Given the description of an element on the screen output the (x, y) to click on. 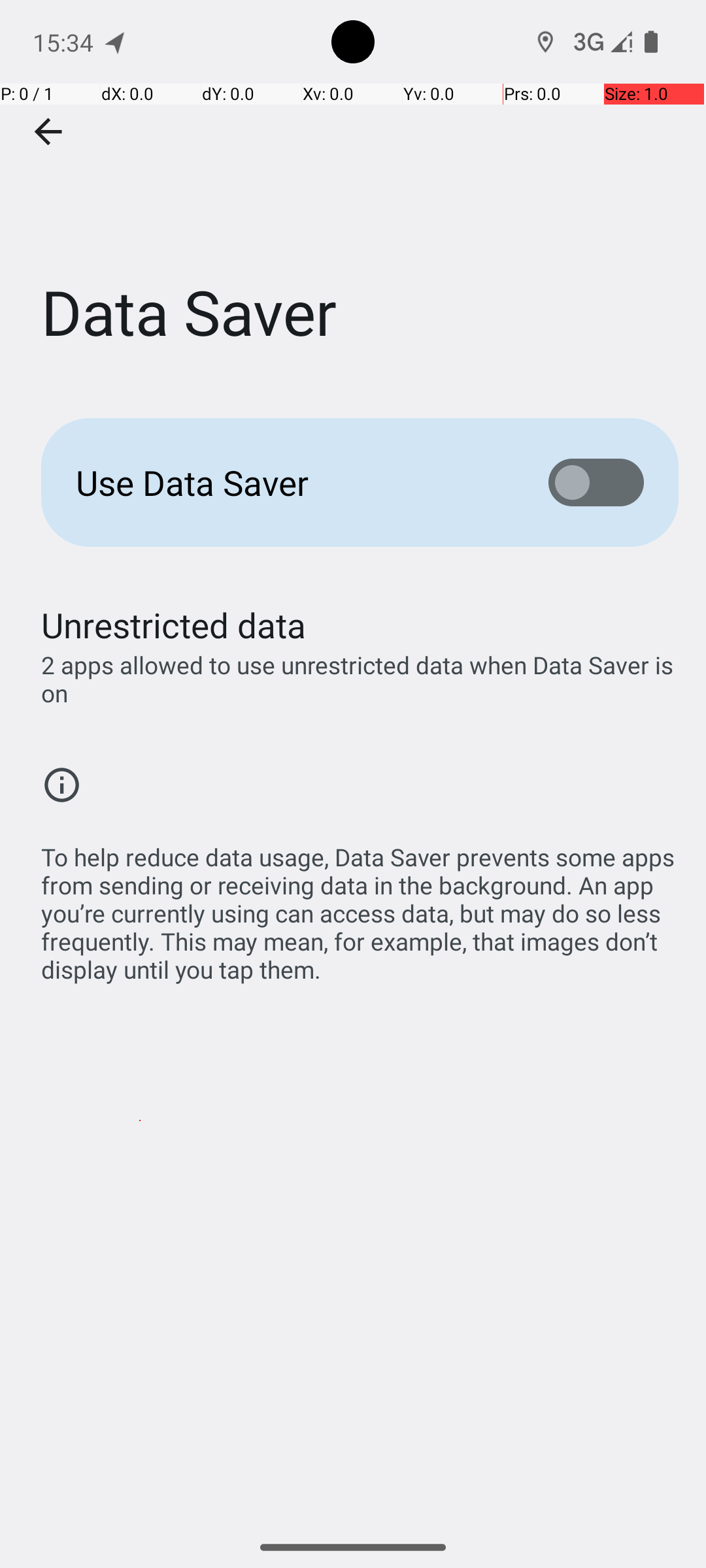
Data Saver Element type: android.widget.FrameLayout (353, 195)
Use Data Saver Element type: android.widget.TextView (291, 482)
Unrestricted data Element type: android.widget.TextView (173, 624)
2 apps allowed to use unrestricted data when Data Saver is on Element type: android.widget.TextView (359, 678)
To help reduce data usage, Data Saver prevents some apps from sending or receiving data in the background. An app you’re currently using can access data, but may do so less frequently. This may mean, for example, that images don’t display until you tap them. Element type: android.widget.TextView (359, 905)
